Given the description of an element on the screen output the (x, y) to click on. 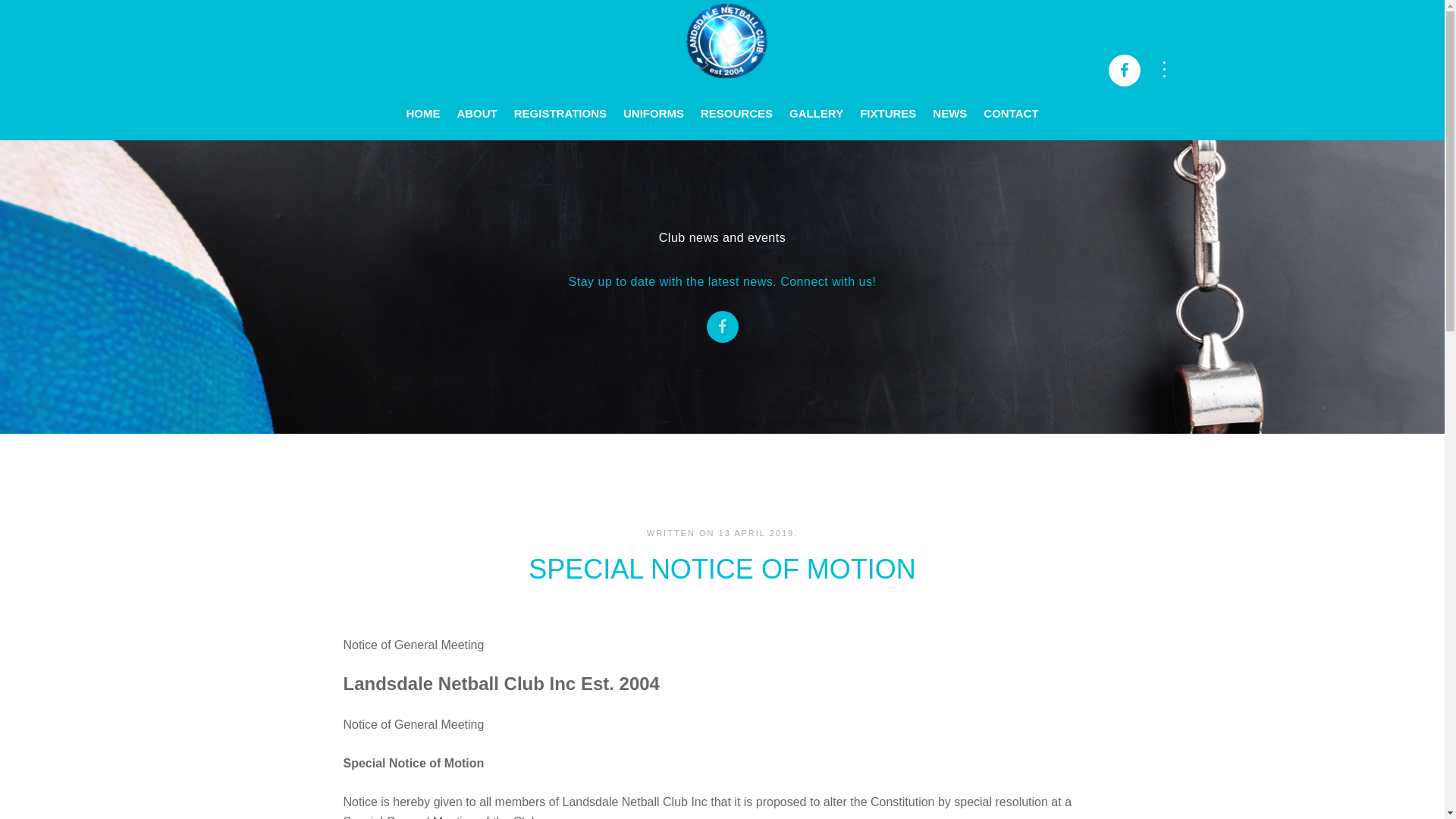
ABOUT Element type: text (476, 101)
REGISTRATIONS Element type: text (560, 101)
GALLERY Element type: text (816, 101)
  Element type: text (721, 30)
HOME Element type: text (422, 101)
CONTACT Element type: text (1010, 101)
RESOURCES Element type: text (736, 101)
FIXTURES Element type: text (887, 101)
UNIFORMS Element type: text (653, 101)
NEWS Element type: text (949, 101)
